Given the description of an element on the screen output the (x, y) to click on. 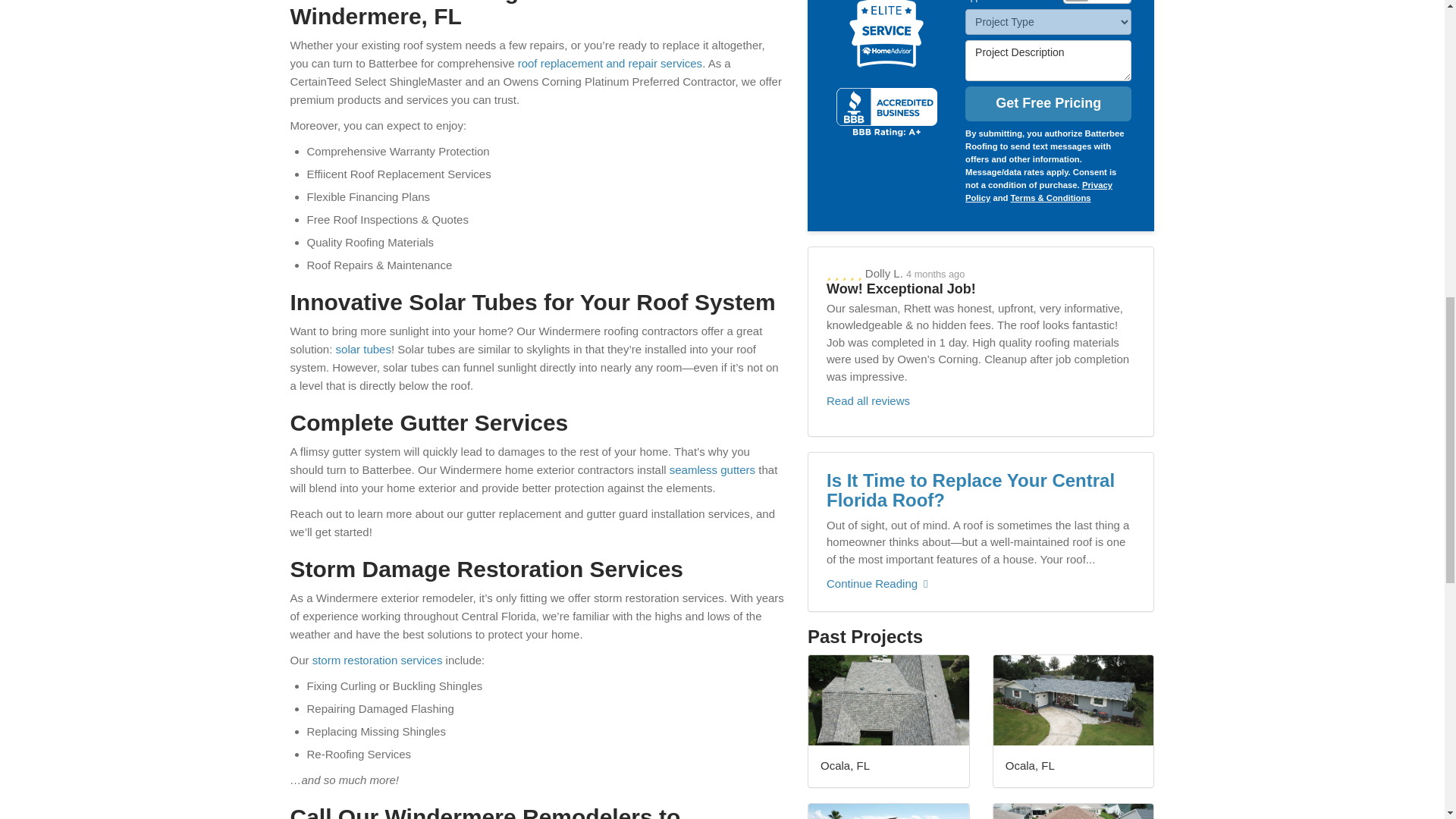
Ocala, FL Shingle Replacement Project (888, 307)
Ocala, FL Shingle Replacement Project (1073, 307)
The Villages, FL Shingle Replacement Project (1073, 456)
Summerfield, FL Shingle Replacement Project (888, 456)
